Given the description of an element on the screen output the (x, y) to click on. 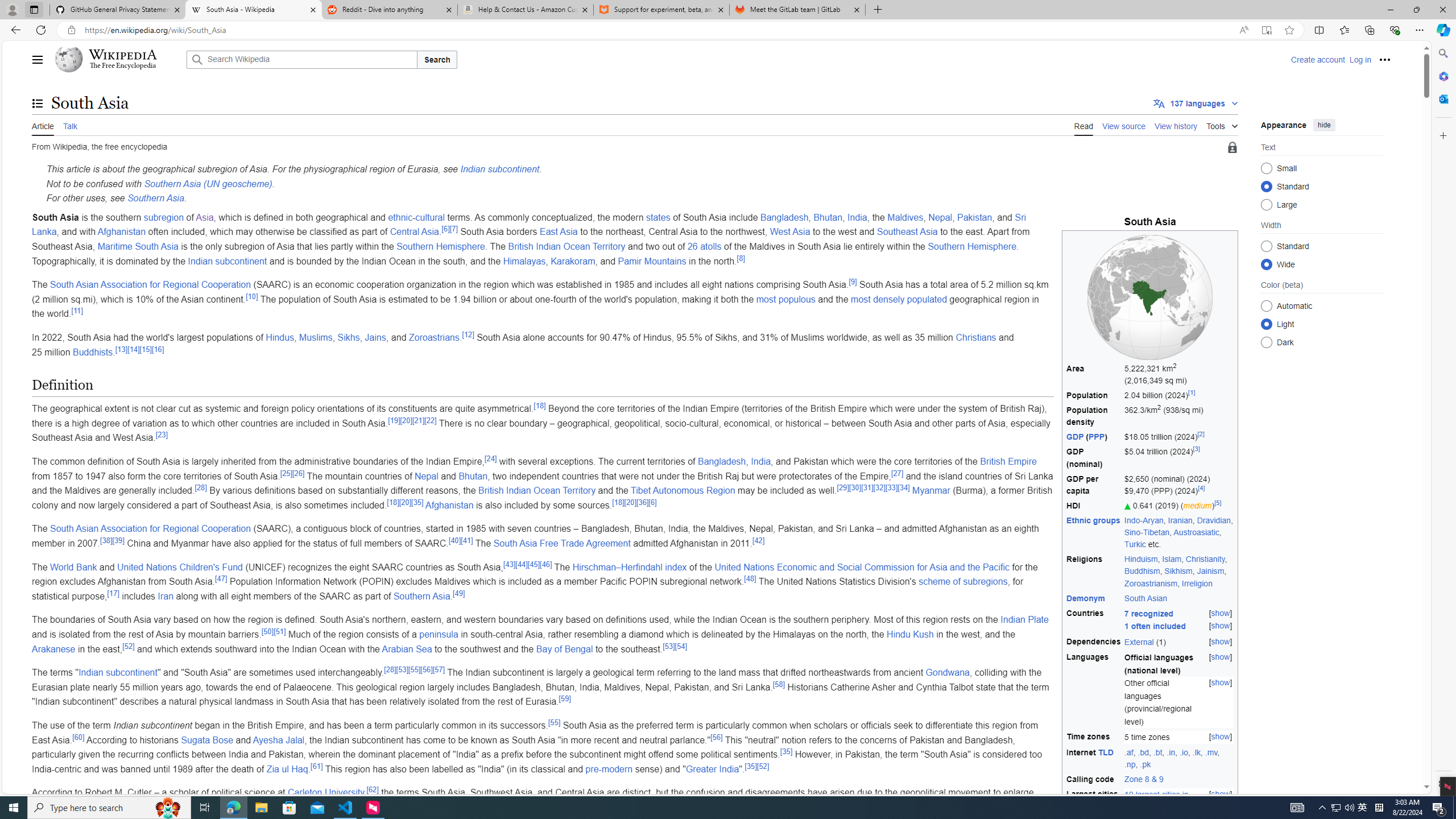
Increase 0.641 (2019) (medium)[5] (1179, 505)
Pamir Mountains (651, 260)
Page semi-protected (1232, 147)
.io (1183, 751)
Sri Lanka (529, 224)
Myanmar (931, 490)
Buddhists (92, 352)
Article (42, 124)
Tools (1222, 124)
1 often included (1155, 626)
[18] (617, 501)
